Given the description of an element on the screen output the (x, y) to click on. 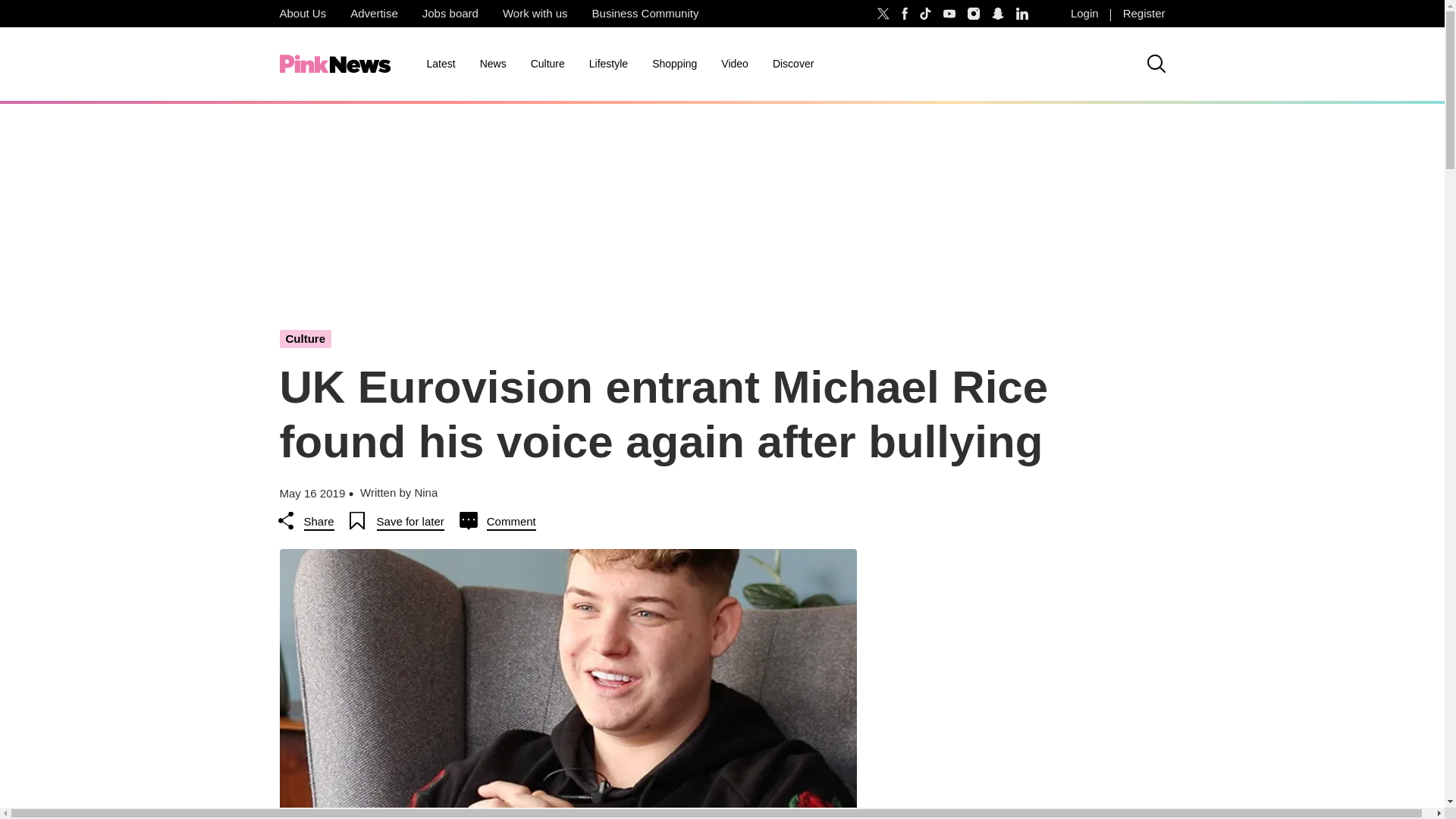
Business Community (645, 13)
Advertise (373, 13)
Jobs board (450, 13)
Culture (547, 63)
Follow PinkNews on LinkedIn (1021, 13)
Login (1084, 13)
About Us (301, 13)
Latest (440, 63)
Register (1143, 13)
Work with us (534, 13)
Lifestyle (608, 63)
News (493, 63)
